Given the description of an element on the screen output the (x, y) to click on. 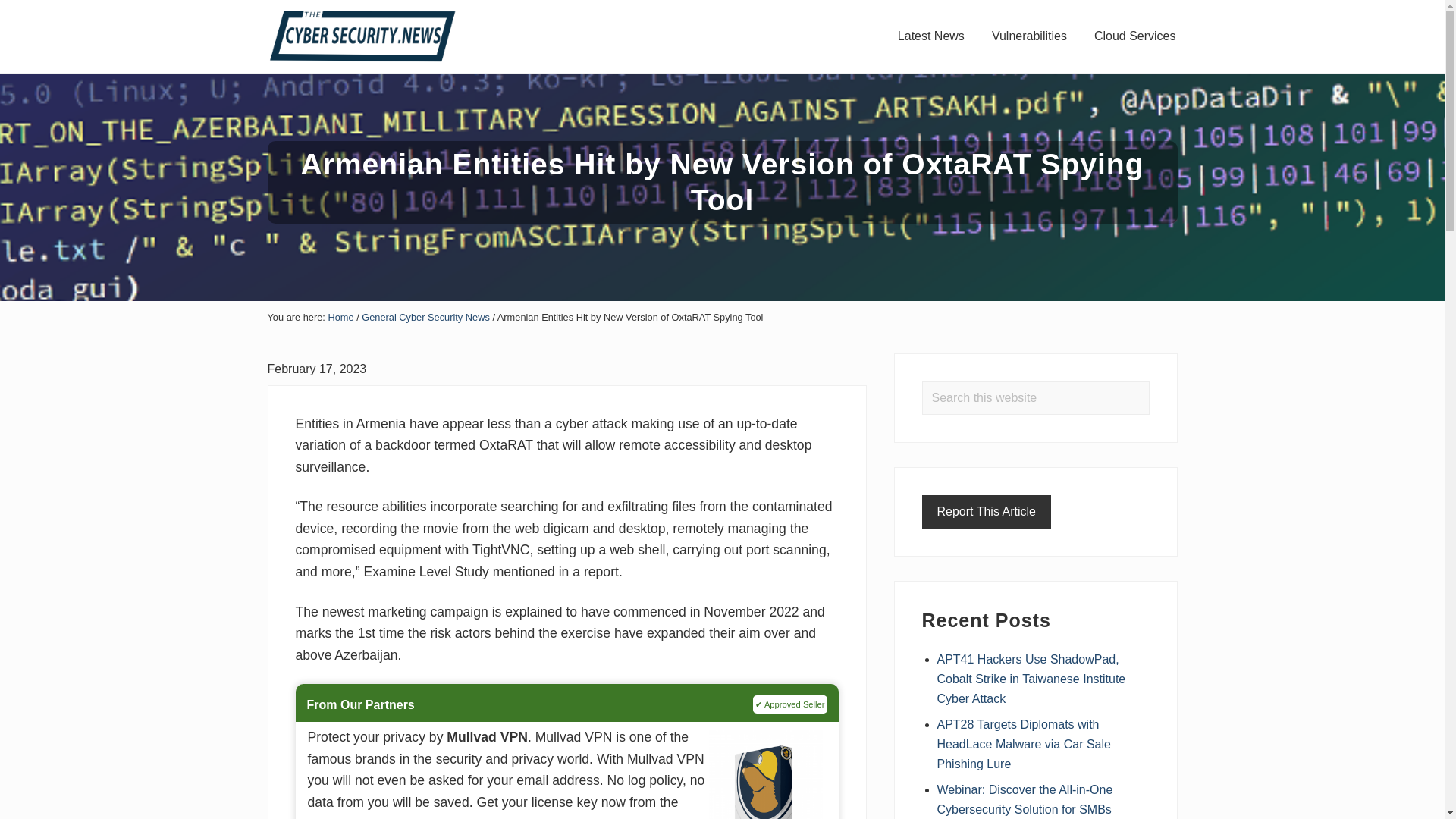
Latest News (930, 35)
General Cyber Security News (425, 317)
Cloud Services (1134, 35)
Home (340, 317)
Report This Article (986, 511)
Vulnerabilities (1028, 35)
